Given the description of an element on the screen output the (x, y) to click on. 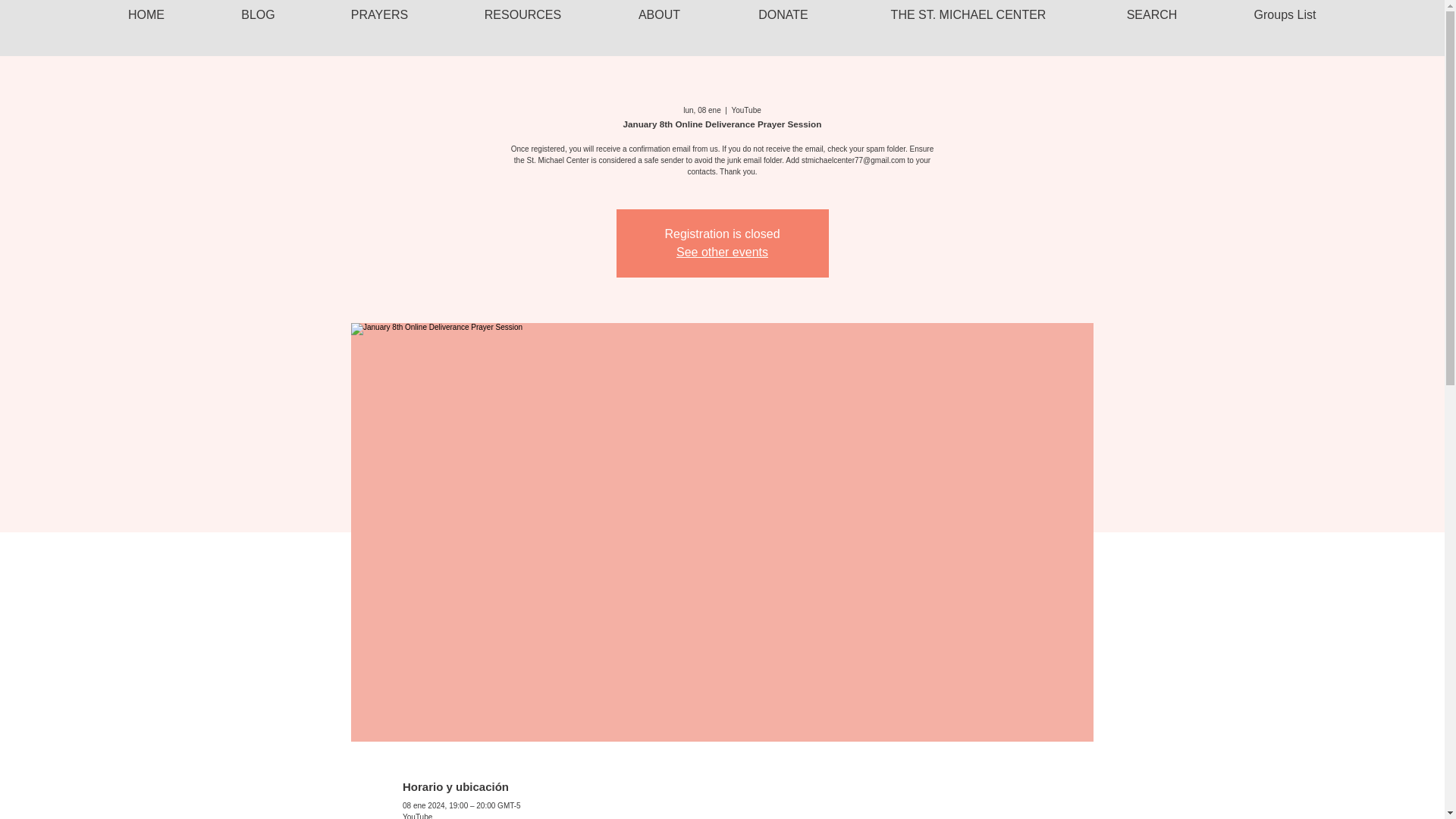
BLOG (258, 14)
HOME (145, 14)
